Given the description of an element on the screen output the (x, y) to click on. 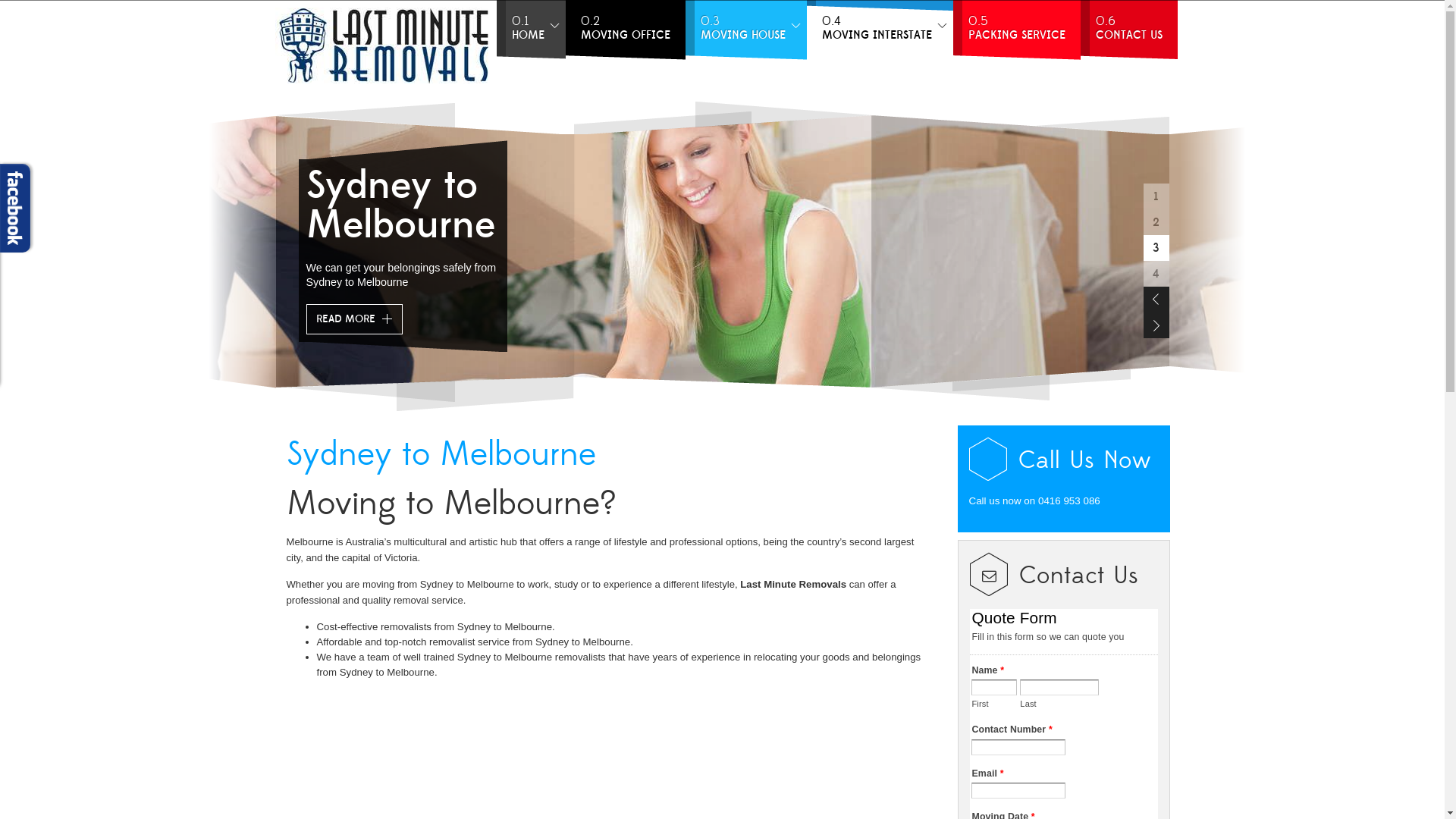
Packing/Unpacking Service Sydney Element type: text (474, 205)
Sydney to Melbourne Element type: text (441, 454)
READ MORE Element type: text (354, 319)
0.5
PACKING SERVICE Element type: text (1015, 30)
0.1
HOME Element type: text (529, 30)
0.2
MOVING OFFICE Element type: text (625, 30)
0.6
CONTACT US Element type: text (1127, 30)
